Given the description of an element on the screen output the (x, y) to click on. 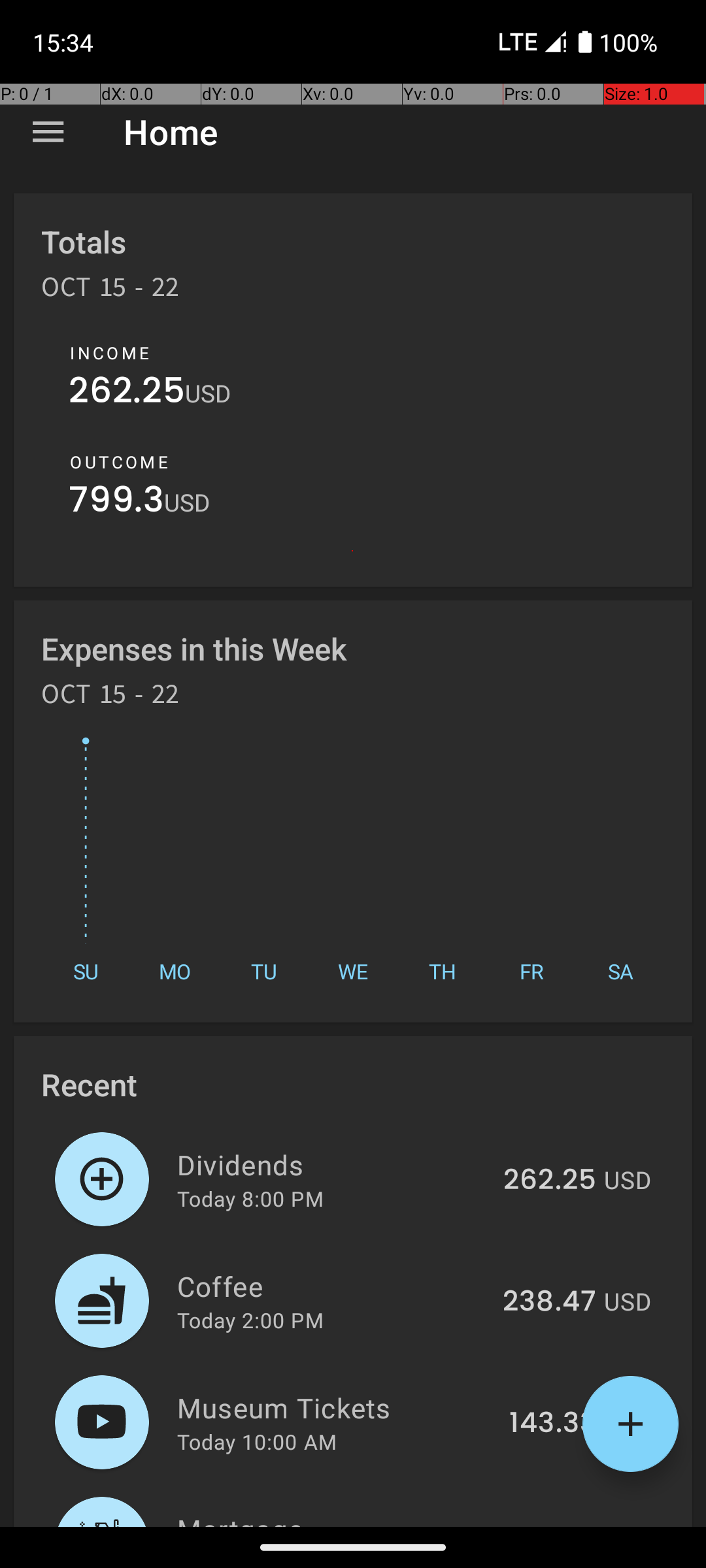
262.25 Element type: android.widget.TextView (126, 393)
799.3 Element type: android.widget.TextView (116, 502)
Dividends Element type: android.widget.TextView (332, 1164)
Today 8:00 PM Element type: android.widget.TextView (250, 1198)
Coffee Element type: android.widget.TextView (332, 1285)
Today 2:00 PM Element type: android.widget.TextView (250, 1320)
238.47 Element type: android.widget.TextView (549, 1301)
Museum Tickets Element type: android.widget.TextView (335, 1407)
Today 10:00 AM Element type: android.widget.TextView (256, 1441)
143.33 Element type: android.widget.TextView (552, 1423)
Mortgage Element type: android.widget.TextView (344, 1518)
182.7 Element type: android.widget.TextView (561, 1524)
